Given the description of an element on the screen output the (x, y) to click on. 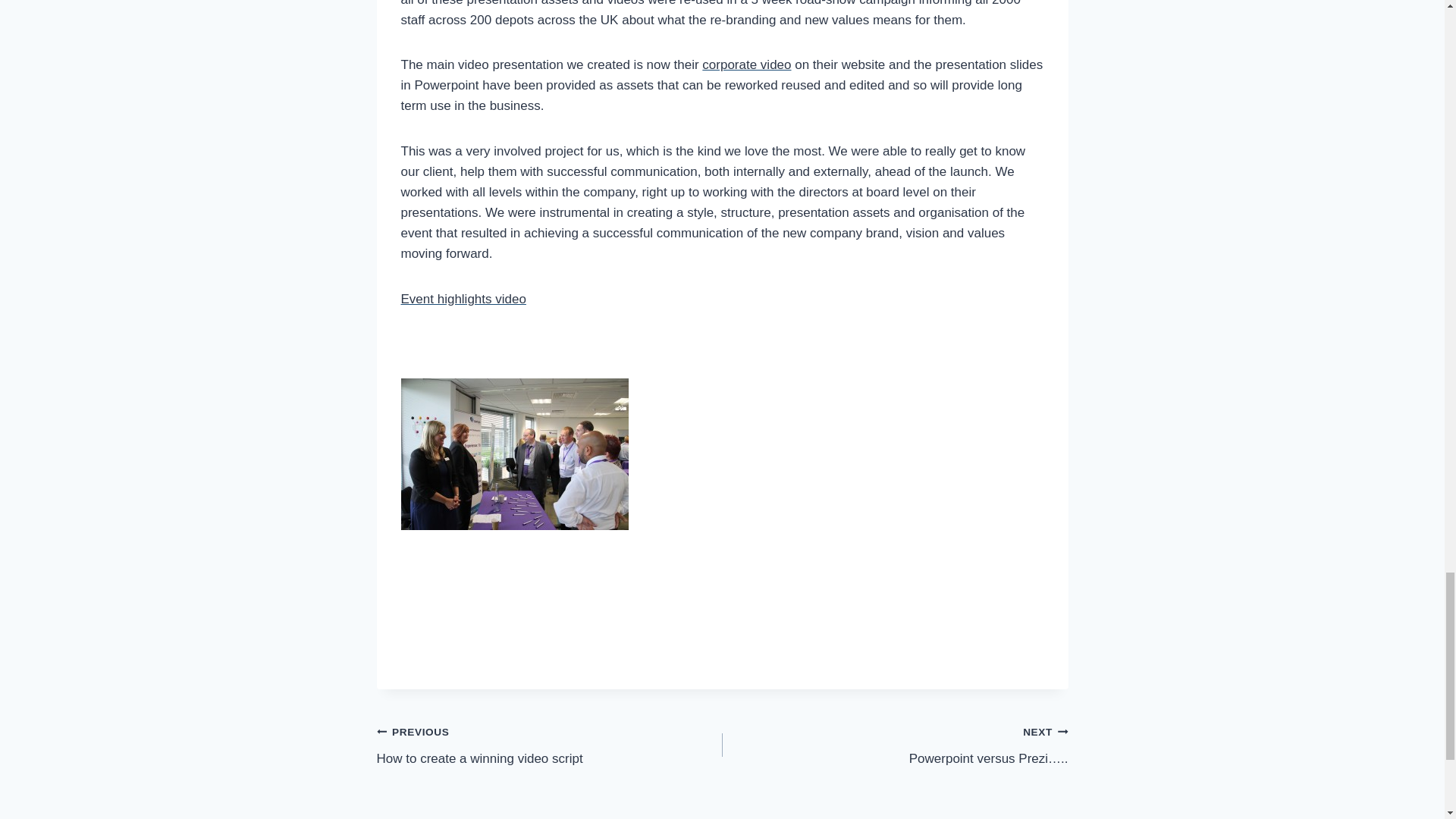
brand re-launch event company presentation (513, 453)
